Given the description of an element on the screen output the (x, y) to click on. 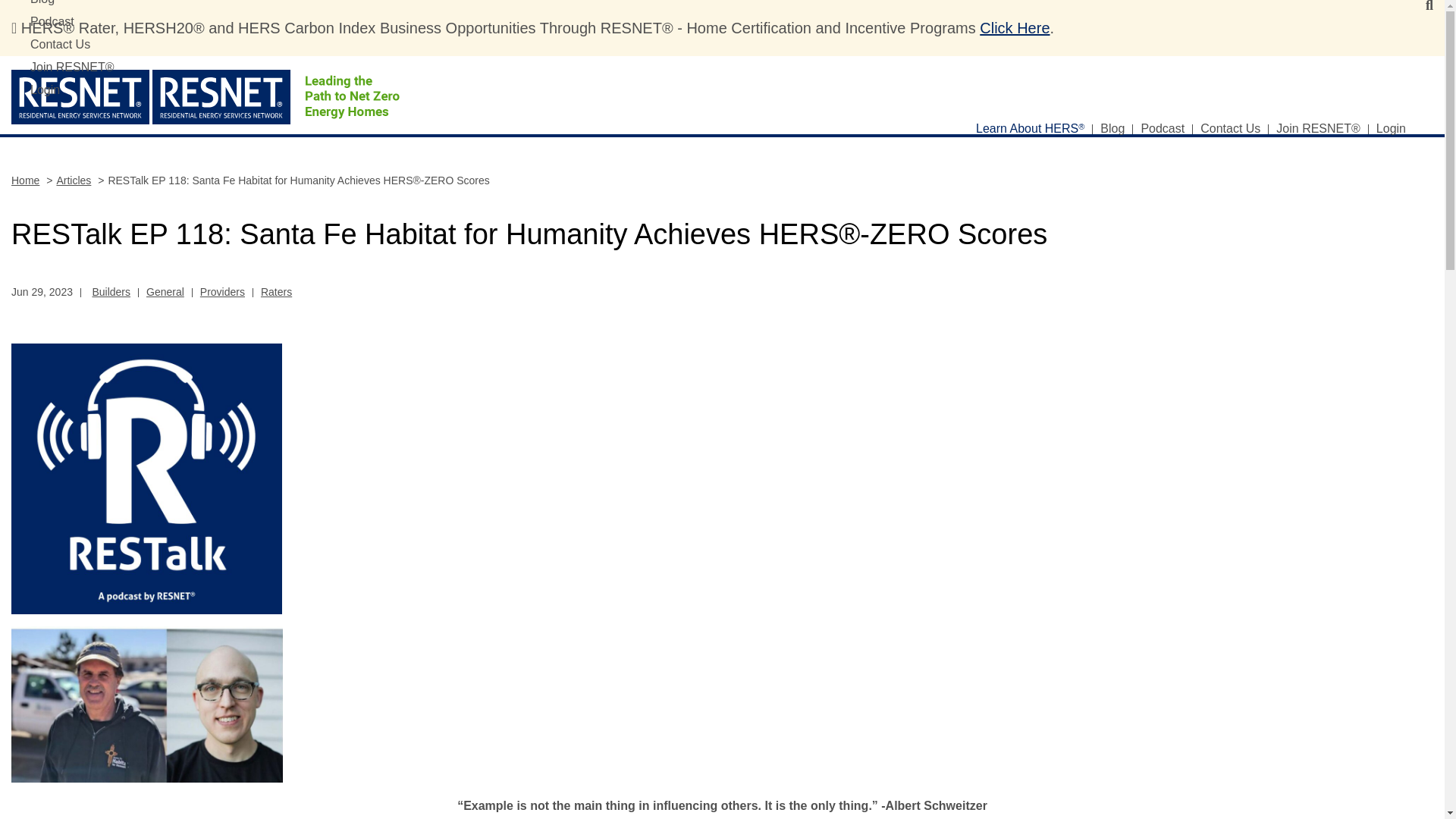
Login (1390, 129)
Click Here (1014, 27)
Contact Us (1229, 129)
Podcast (1162, 129)
Blog (1112, 129)
